Given the description of an element on the screen output the (x, y) to click on. 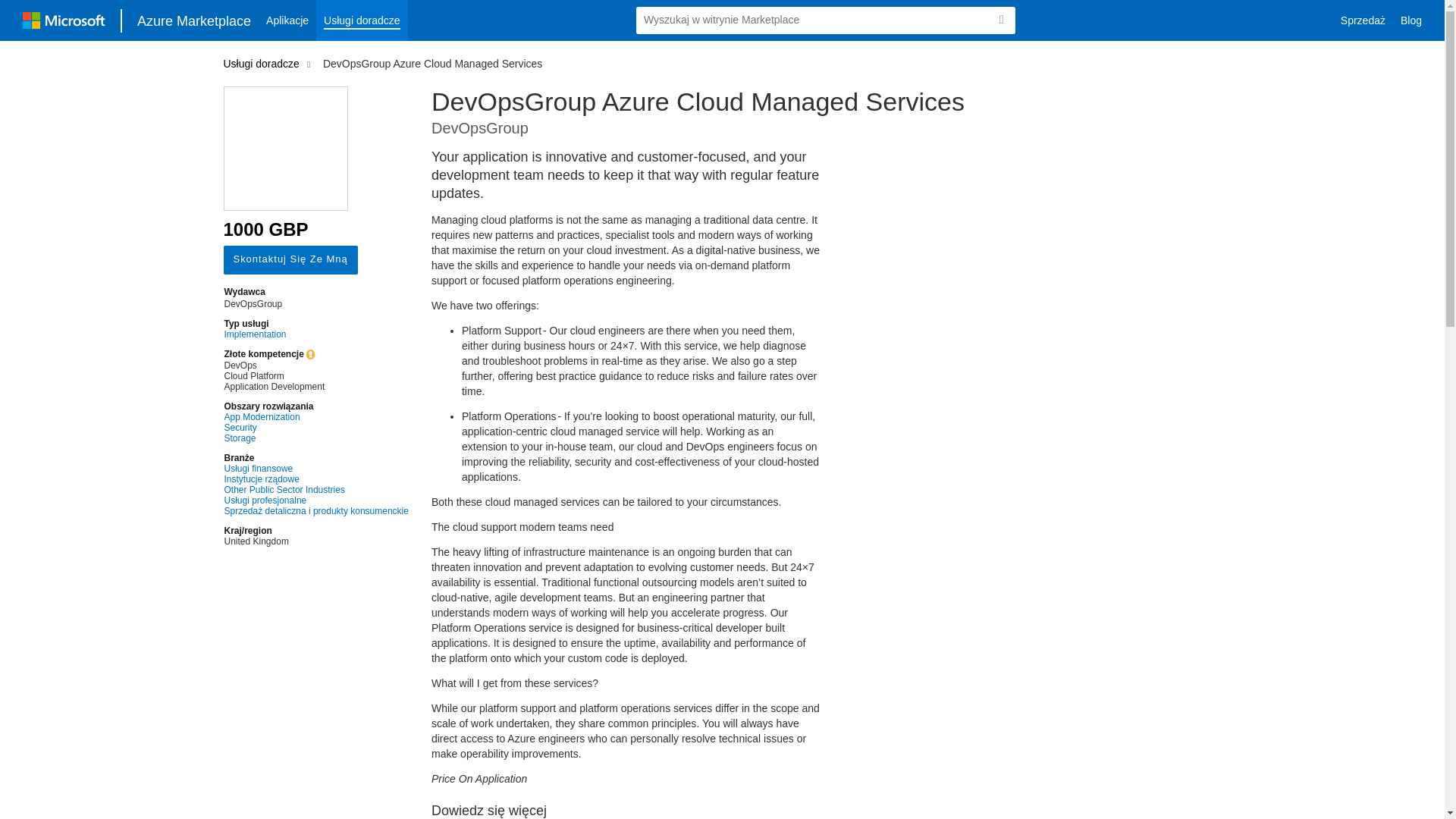
App Modernization (316, 416)
Security (316, 427)
Storage (316, 438)
Implementation (316, 334)
Blog (1411, 20)
Aplikacje (287, 20)
Azure Marketplace (194, 20)
Search (1001, 19)
Other Public Sector Industries (316, 489)
